Given the description of an element on the screen output the (x, y) to click on. 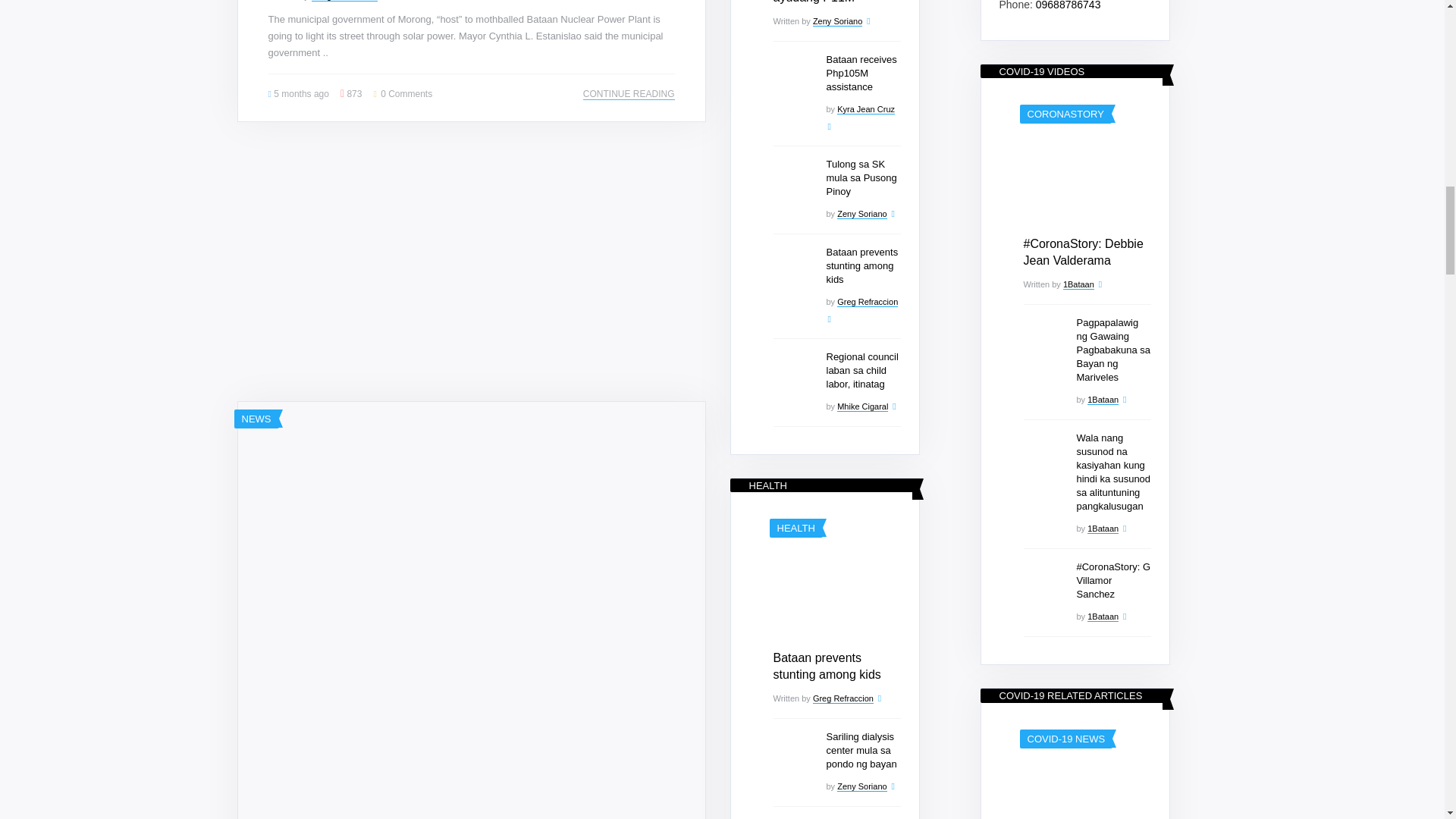
View all posts in News (255, 419)
Posts by Greg Refraccion (344, 0)
